Given the description of an element on the screen output the (x, y) to click on. 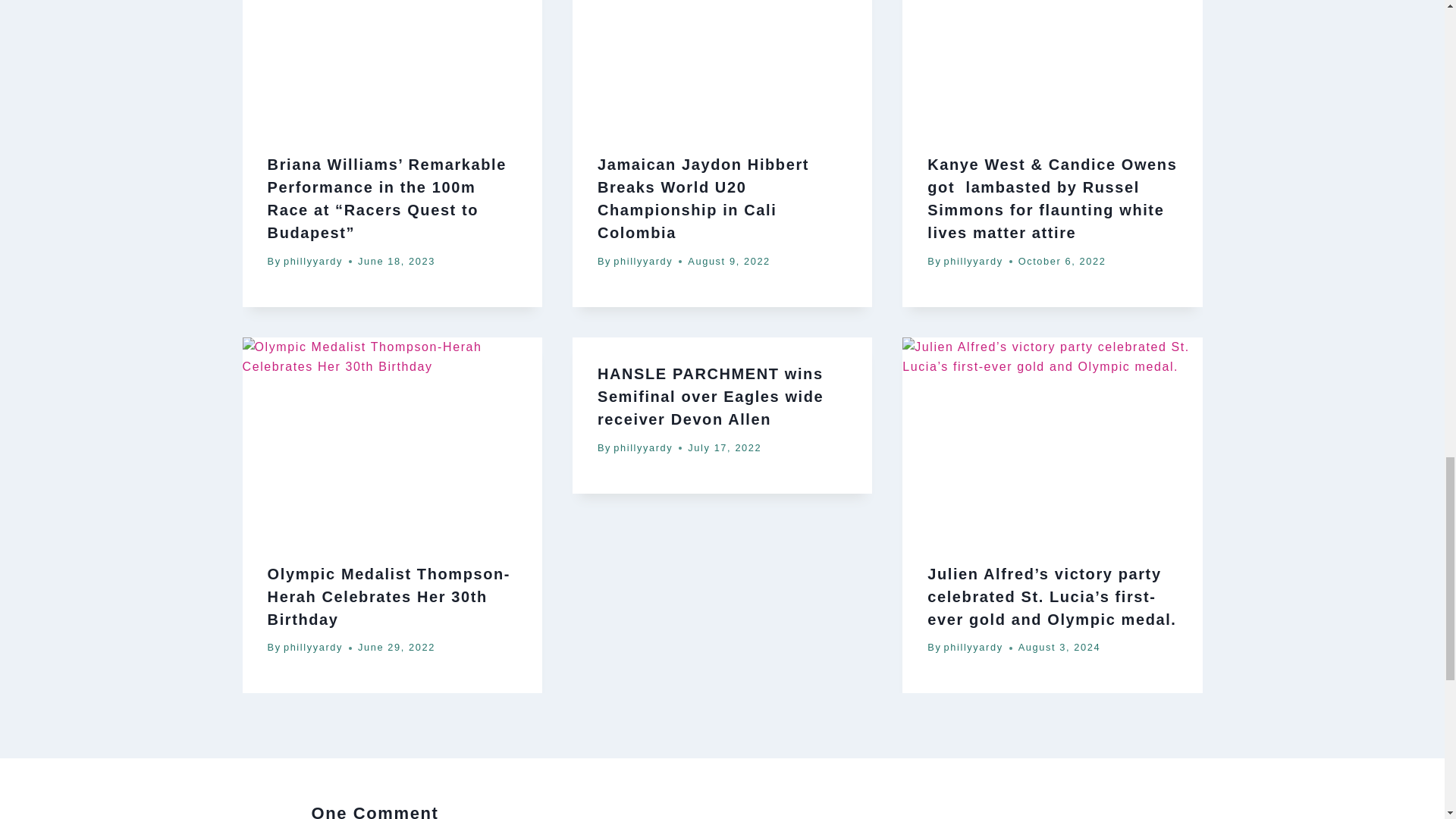
Olympic Medalist Thompson-Herah Celebrates Her 30th Birthday (389, 596)
phillyyardy (312, 646)
phillyyardy (973, 260)
phillyyardy (312, 260)
phillyyardy (642, 260)
